Given the description of an element on the screen output the (x, y) to click on. 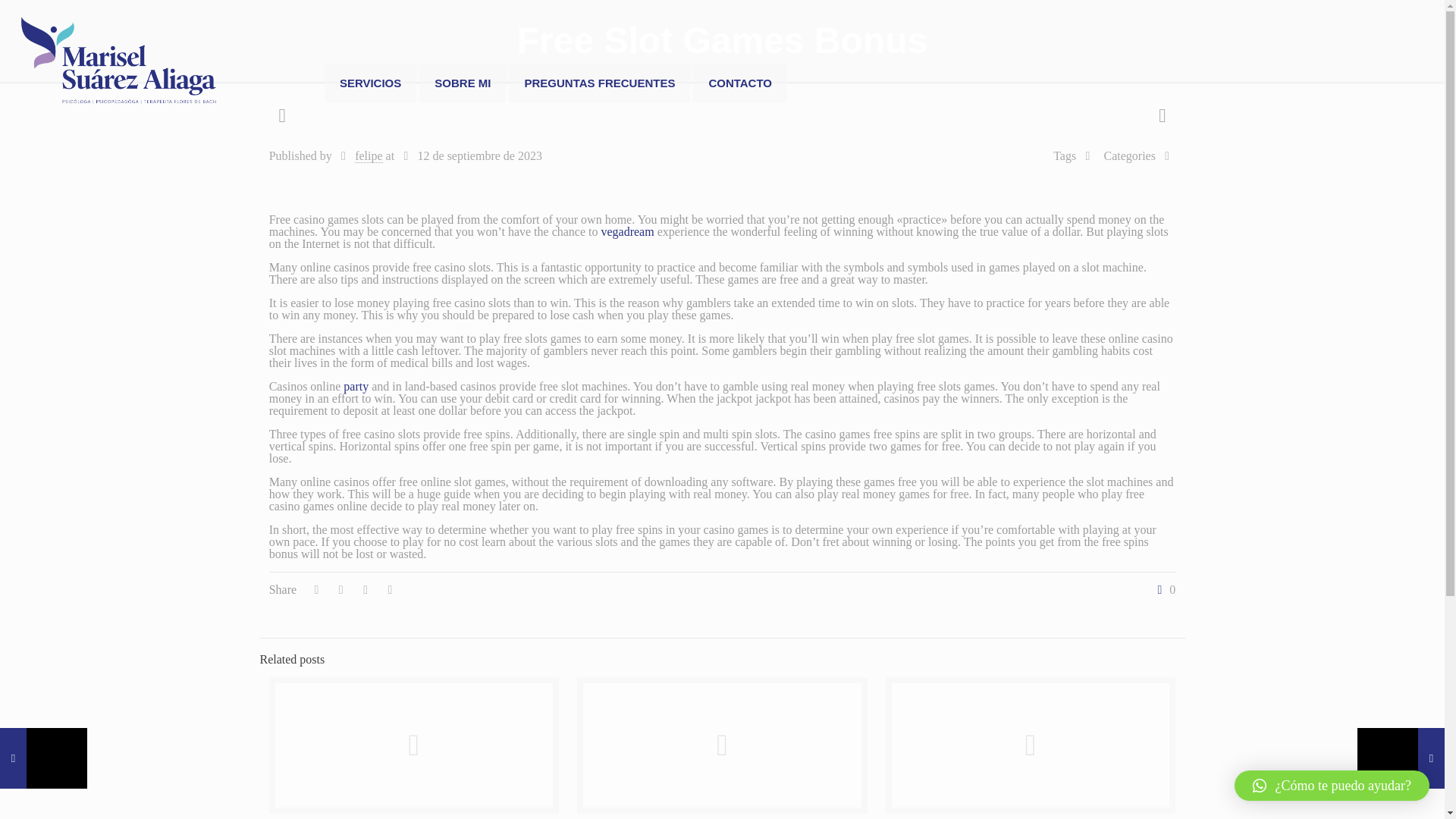
SERVICIOS (370, 83)
PREGUNTAS FRECUENTES (599, 83)
0 (1162, 589)
vegadream (626, 231)
SOBRE MI (462, 83)
felipe (368, 155)
CONTACTO (740, 83)
party (355, 386)
